Given the description of an element on the screen output the (x, y) to click on. 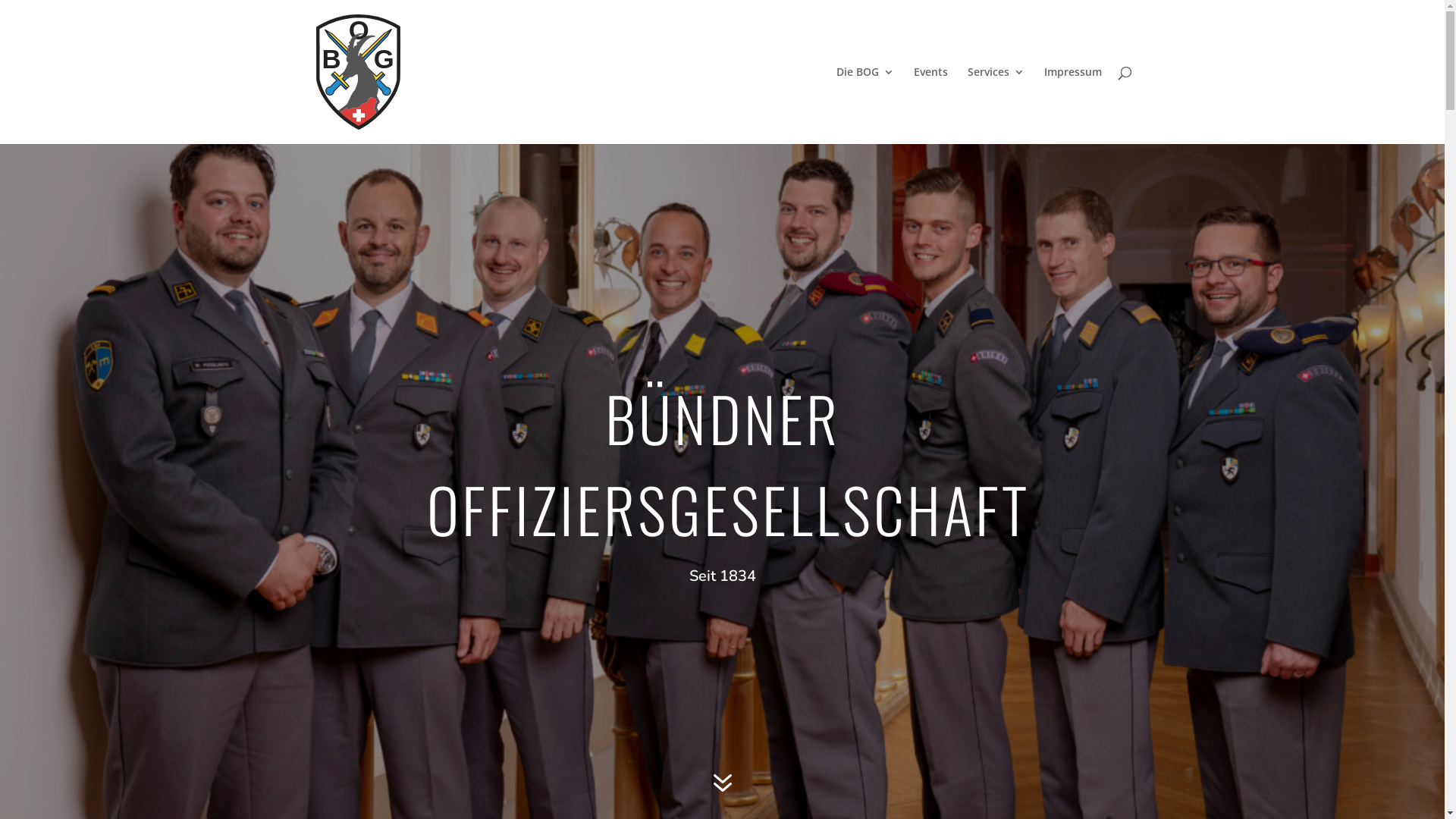
Services Element type: text (995, 105)
Impressum Element type: text (1072, 105)
7 Element type: text (721, 783)
Die BOG Element type: text (864, 105)
Events Element type: text (930, 105)
